Given the description of an element on the screen output the (x, y) to click on. 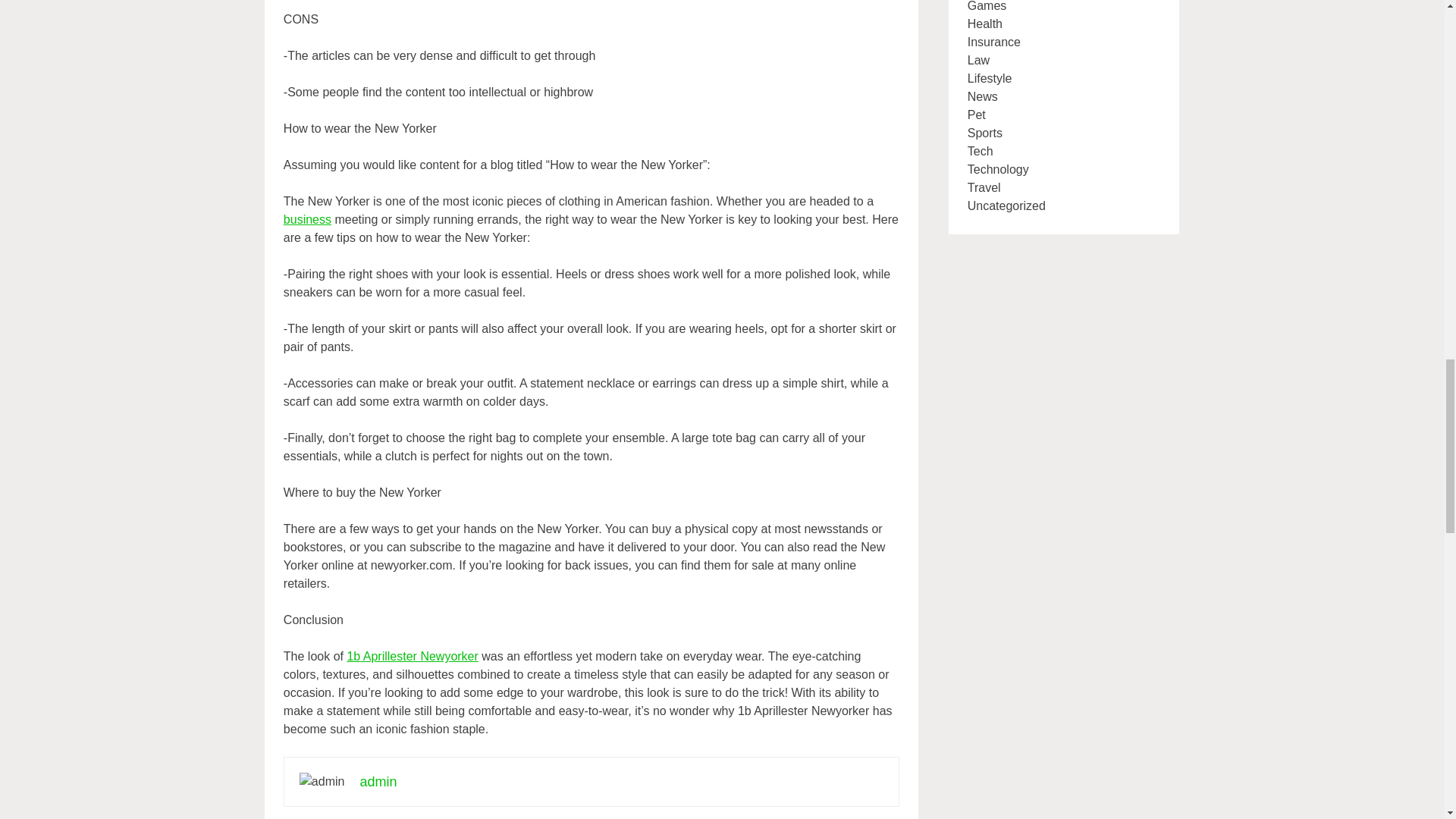
business (307, 219)
1b Aprillester Newyorker (411, 656)
admin (377, 781)
